Given the description of an element on the screen output the (x, y) to click on. 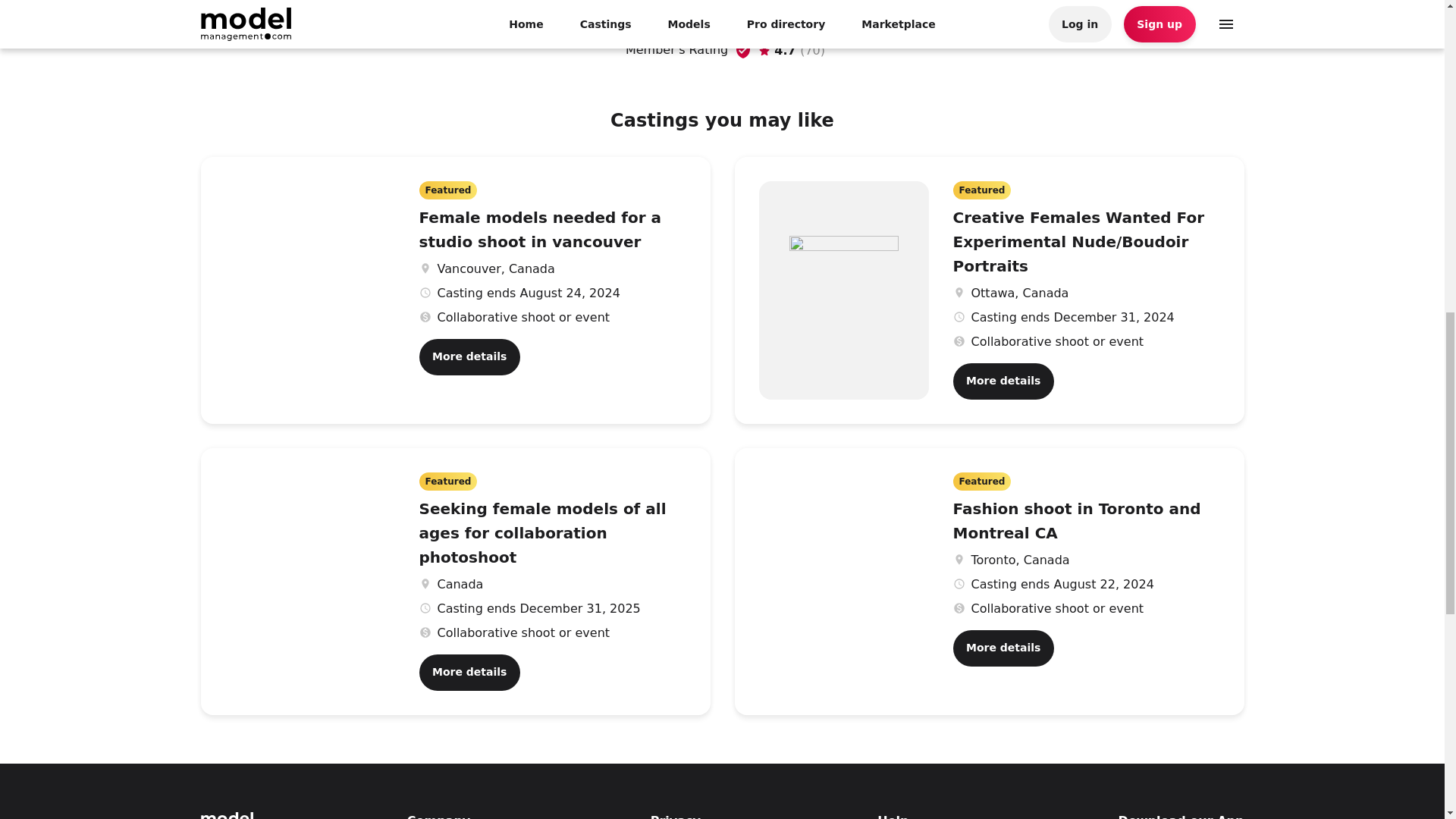
More details (469, 356)
More details (1002, 647)
More details (469, 671)
Premium Unlimited (930, 8)
More details (1002, 380)
